Given the description of an element on the screen output the (x, y) to click on. 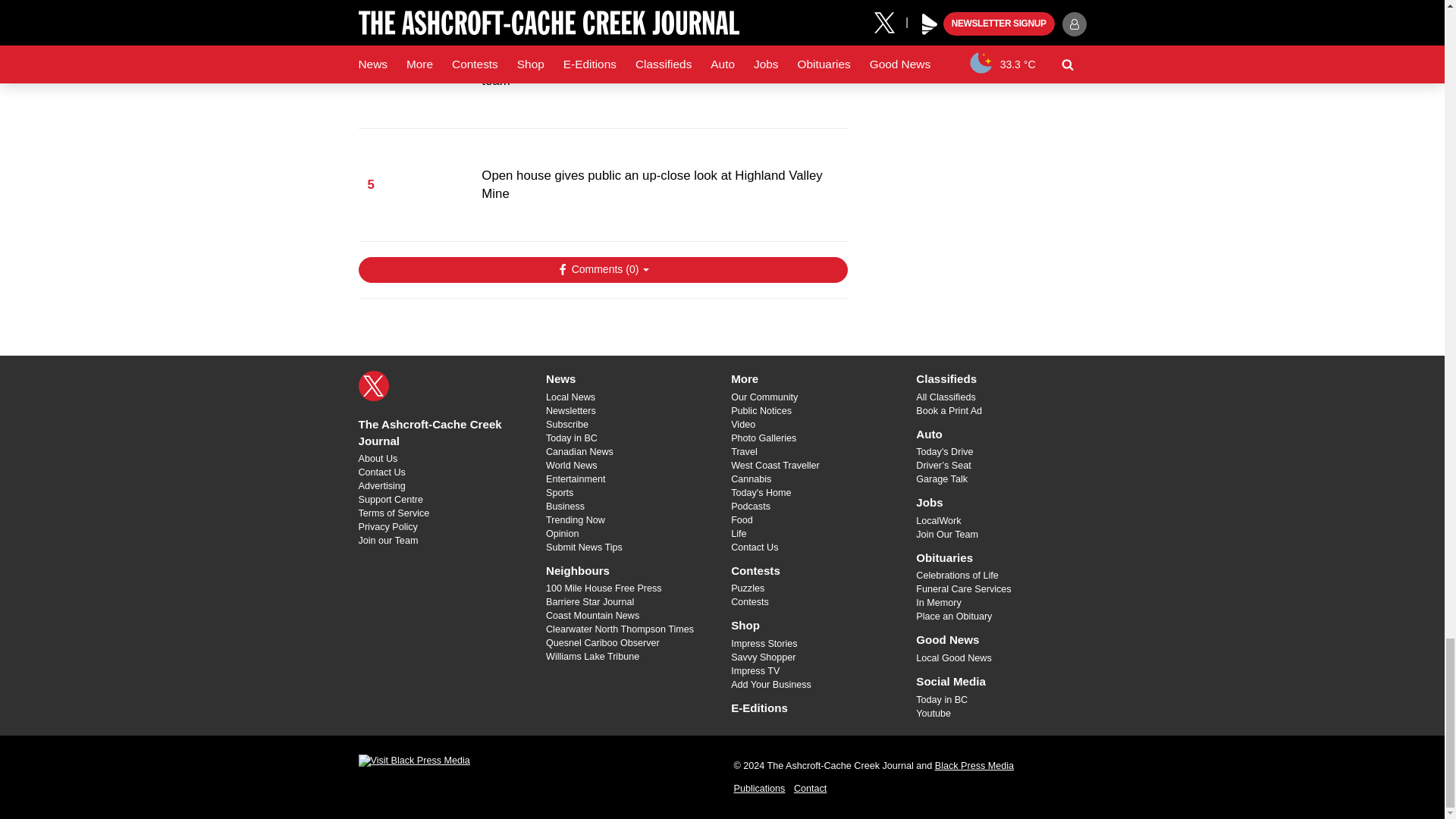
X (373, 386)
Show Comments (602, 269)
